Given the description of an element on the screen output the (x, y) to click on. 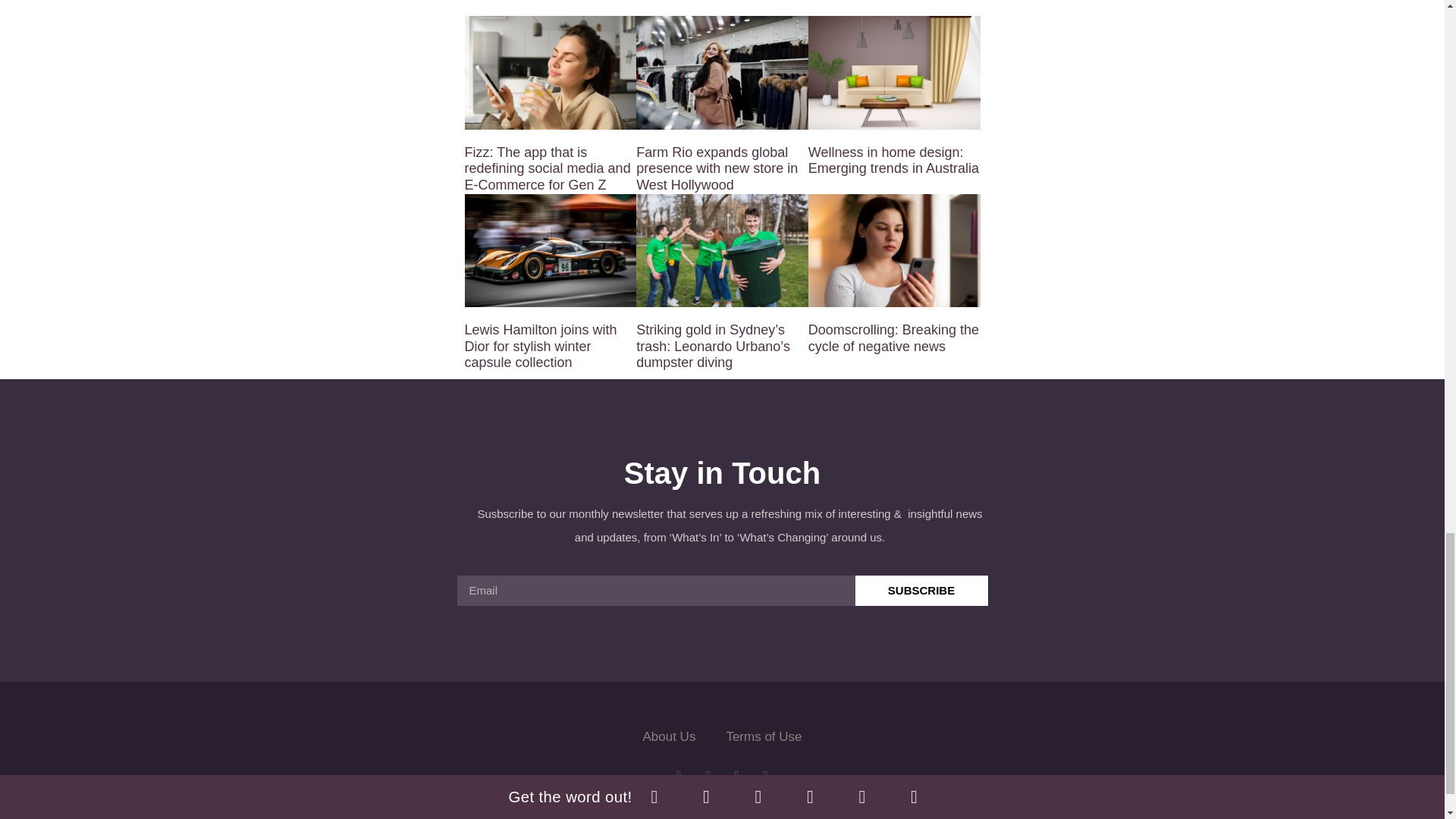
About Us (668, 736)
Doomscrolling: Breaking the cycle of negative news (893, 337)
Terms of Use (763, 736)
Wellness in home design: Emerging trends in Australia (893, 160)
SUBSCRIBE (922, 590)
